Given the description of an element on the screen output the (x, y) to click on. 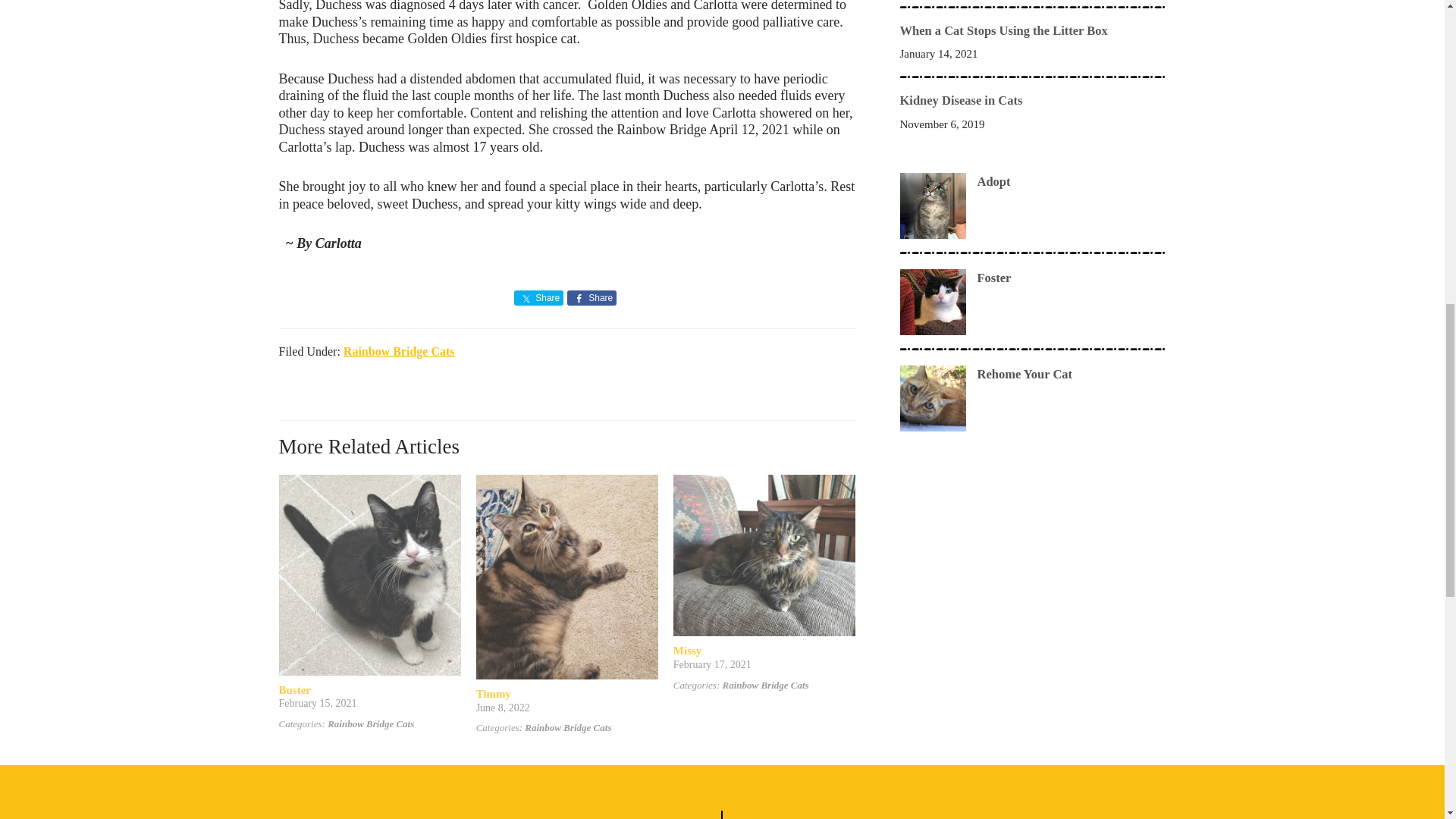
Permanent Link to Buster (295, 689)
Permanent Link to Timmy (567, 482)
Permanent Link to Timmy (493, 693)
Permanent Link to Missy (686, 650)
Permanent Link to Missy (764, 482)
Permanent Link to Buster (370, 482)
